Given the description of an element on the screen output the (x, y) to click on. 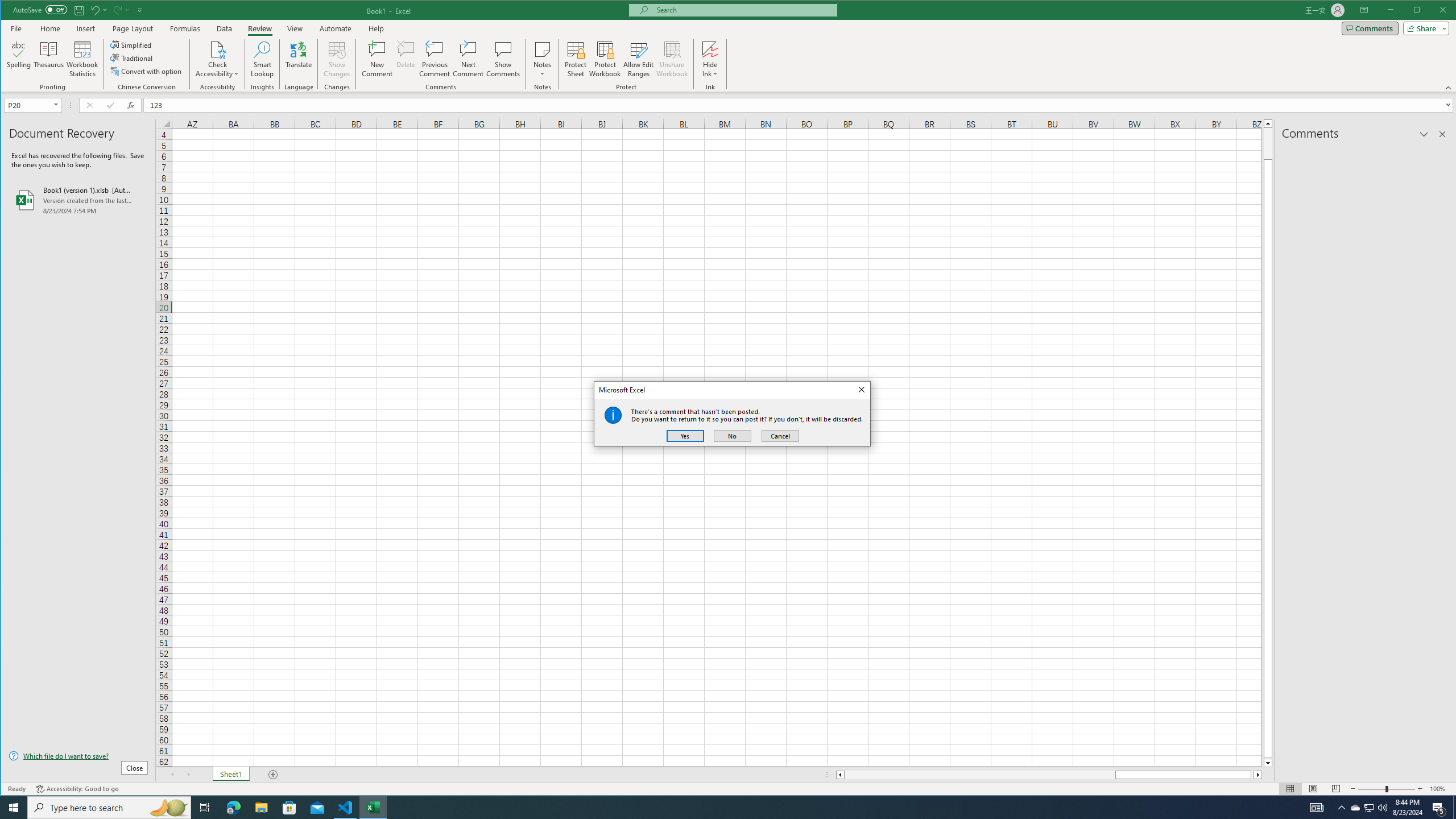
Allow Edit Ranges (638, 59)
Automate (336, 28)
Yes (684, 435)
Page up (1267, 142)
Cancel (780, 435)
Show desktop (1454, 807)
Action Center, 5 new notifications (1439, 807)
